Given the description of an element on the screen output the (x, y) to click on. 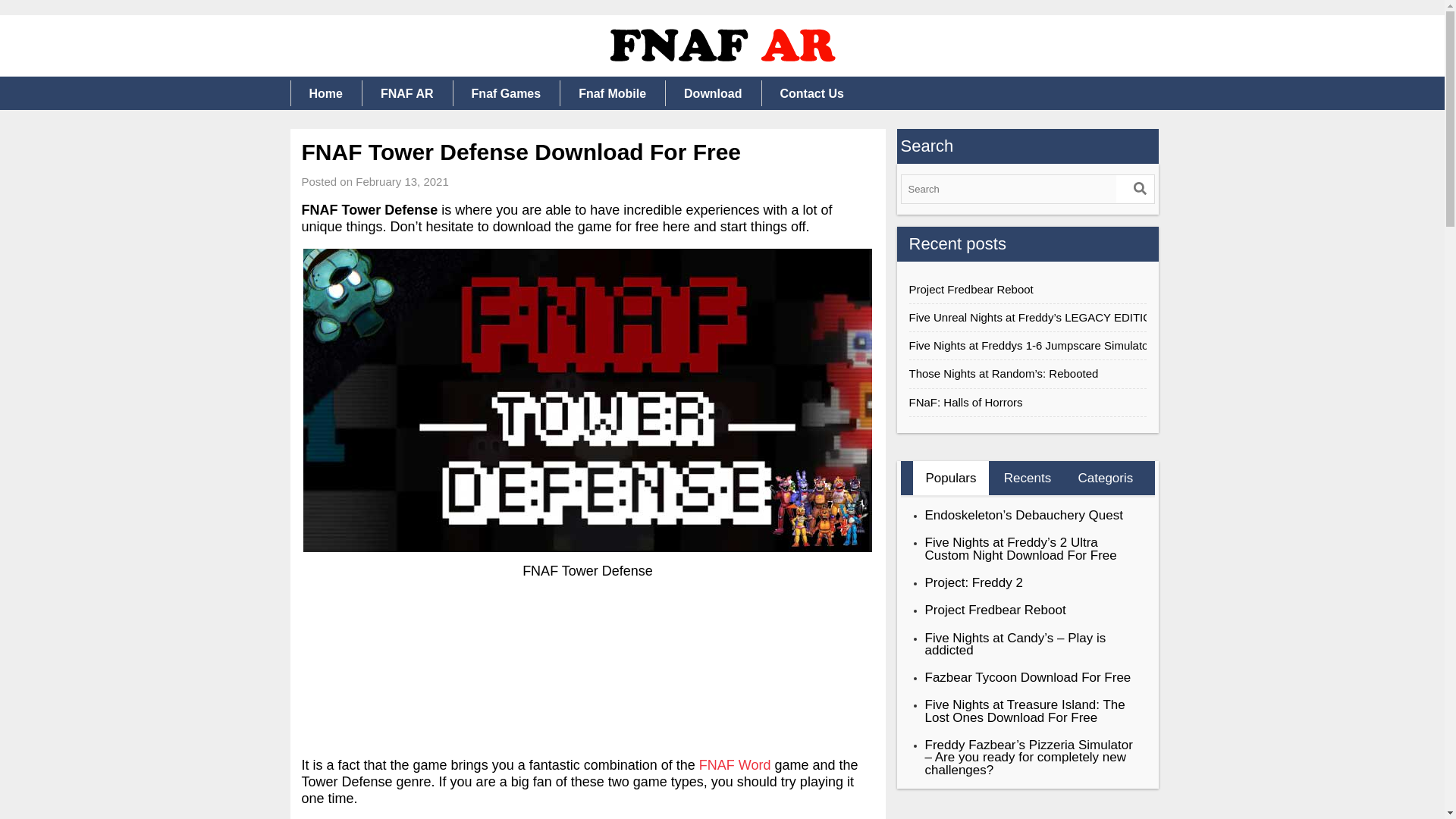
Fnaf Games (506, 92)
Download (712, 92)
Categoris (1103, 478)
FNAF AR (406, 92)
Contact Us (812, 92)
FNaF: Halls of Horrors (1026, 402)
Advertisement (588, 670)
Five Nights at Freddys 1-6 Jumpscare Simulator (1026, 345)
FNAF Word (734, 765)
FNAF AR (319, 86)
Home (325, 92)
Fnaf Mobile (612, 92)
Populars (951, 478)
February 13, 2021 (401, 181)
Recents (1026, 478)
